Given the description of an element on the screen output the (x, y) to click on. 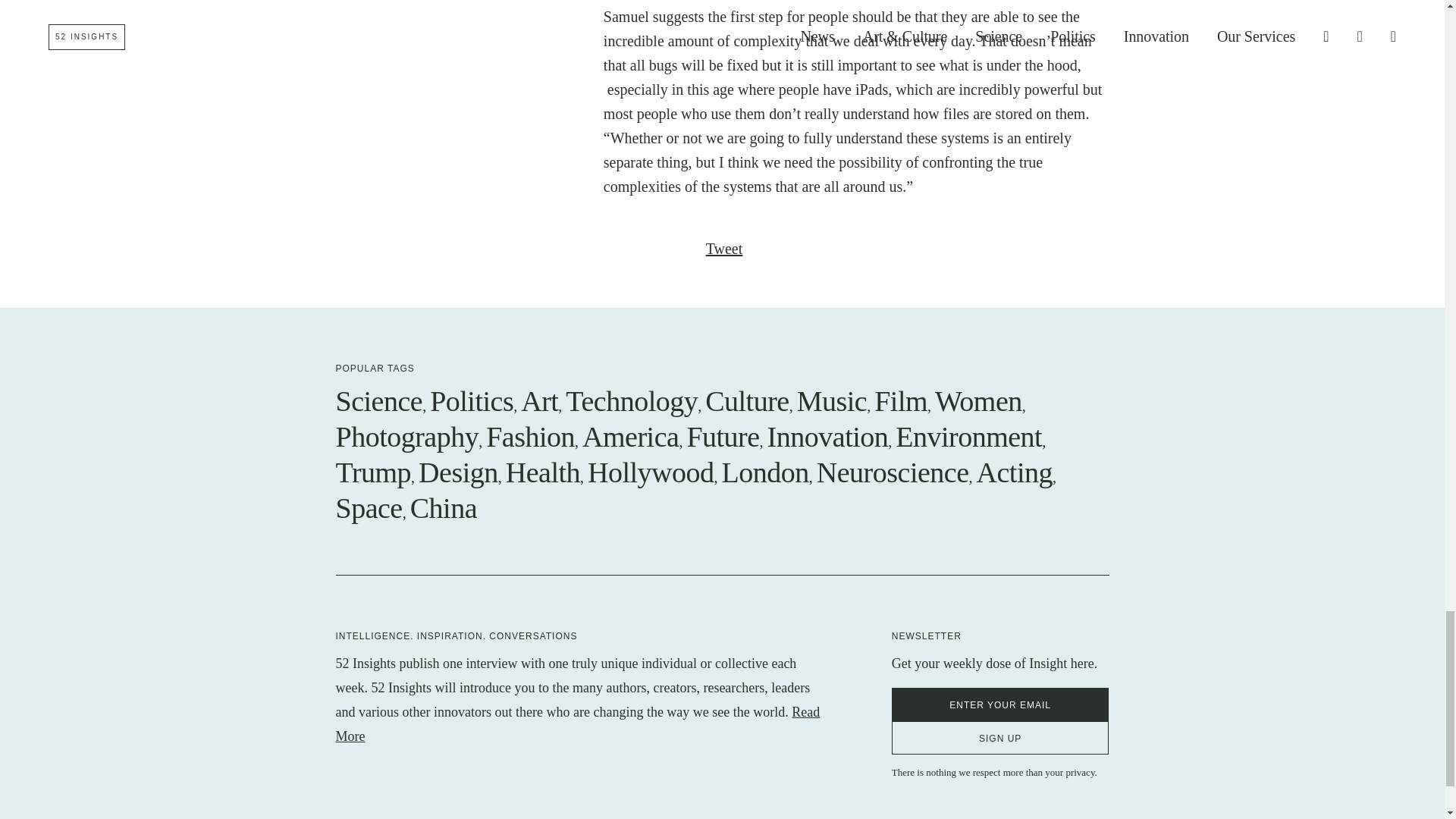
Fashion (530, 436)
Culture (746, 400)
Tweet (724, 248)
Trump (372, 472)
Sign Up (1000, 737)
Design (458, 472)
London (765, 472)
Politics (471, 400)
Photography (406, 436)
Health (542, 472)
